Given the description of an element on the screen output the (x, y) to click on. 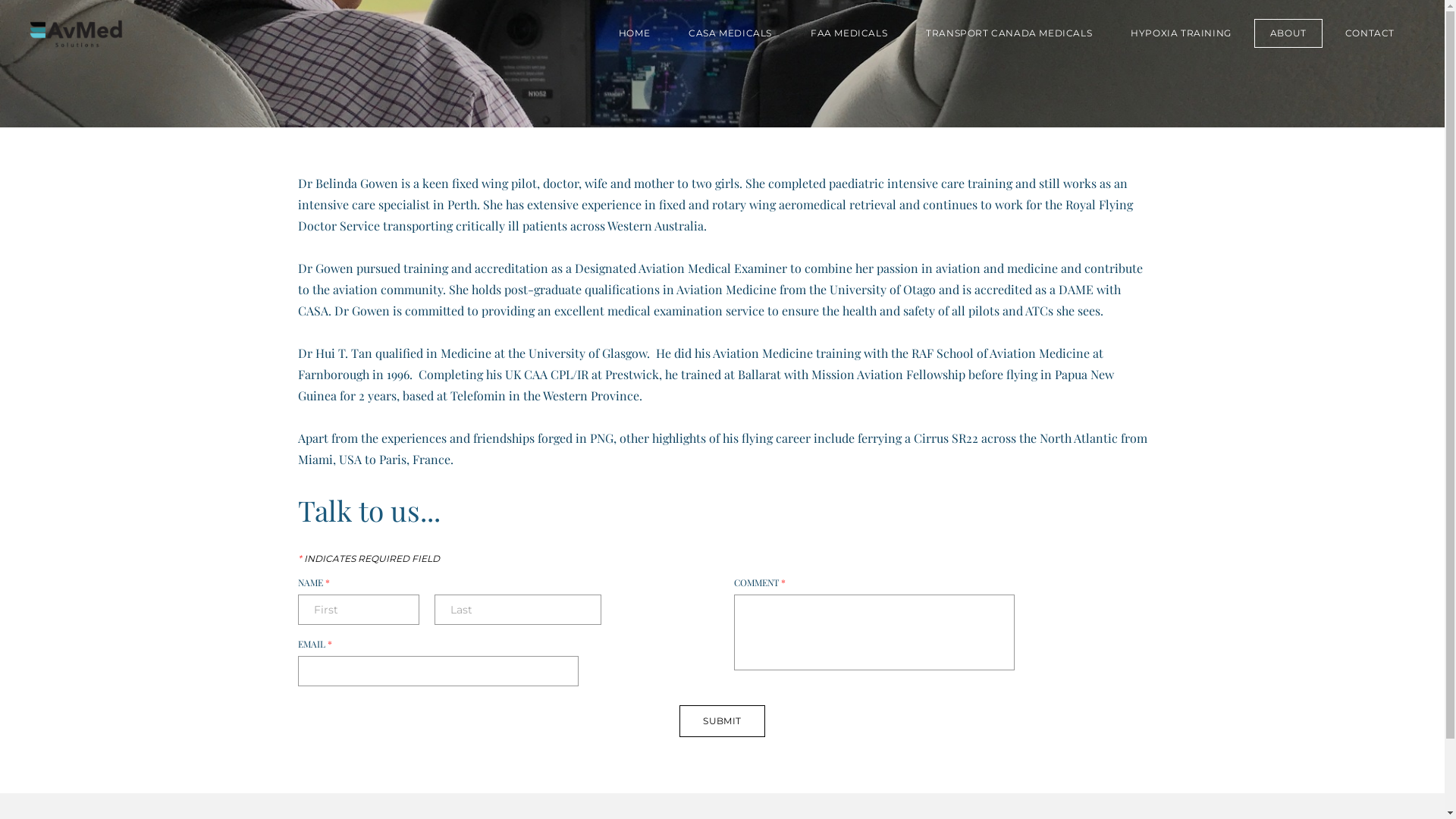
FAA MEDICALS Element type: text (848, 32)
HYPOXIA TRAINING Element type: text (1180, 32)
CONTACT Element type: text (1369, 32)
SUBMIT Element type: text (721, 721)
ABOUT Element type: text (1288, 32)
CASA MEDICALS Element type: text (729, 32)
HOME Element type: text (633, 32)
TRANSPORT CANADA MEDICALS Element type: text (1008, 32)
